Given the description of an element on the screen output the (x, y) to click on. 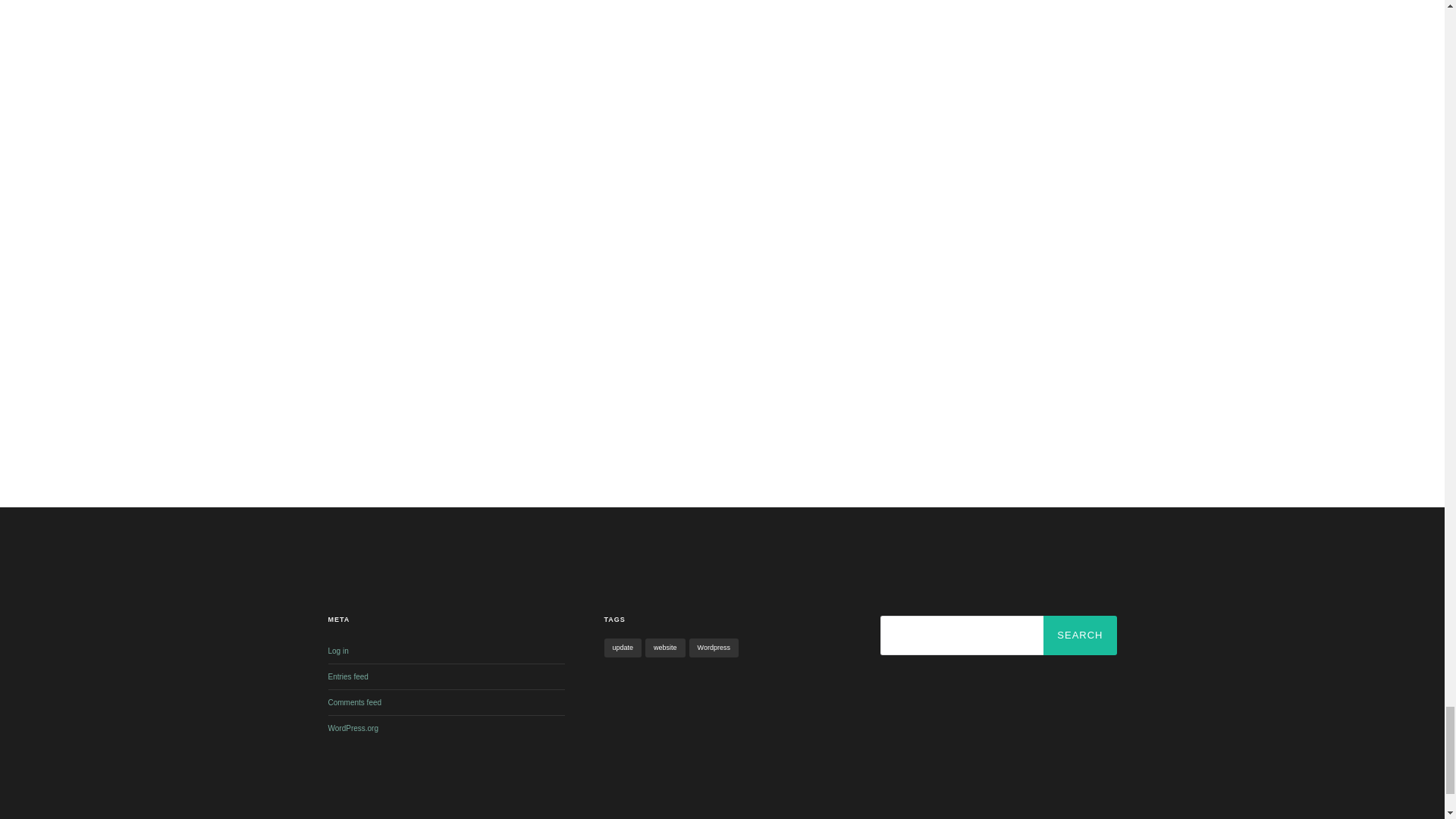
Search (1079, 635)
